Given the description of an element on the screen output the (x, y) to click on. 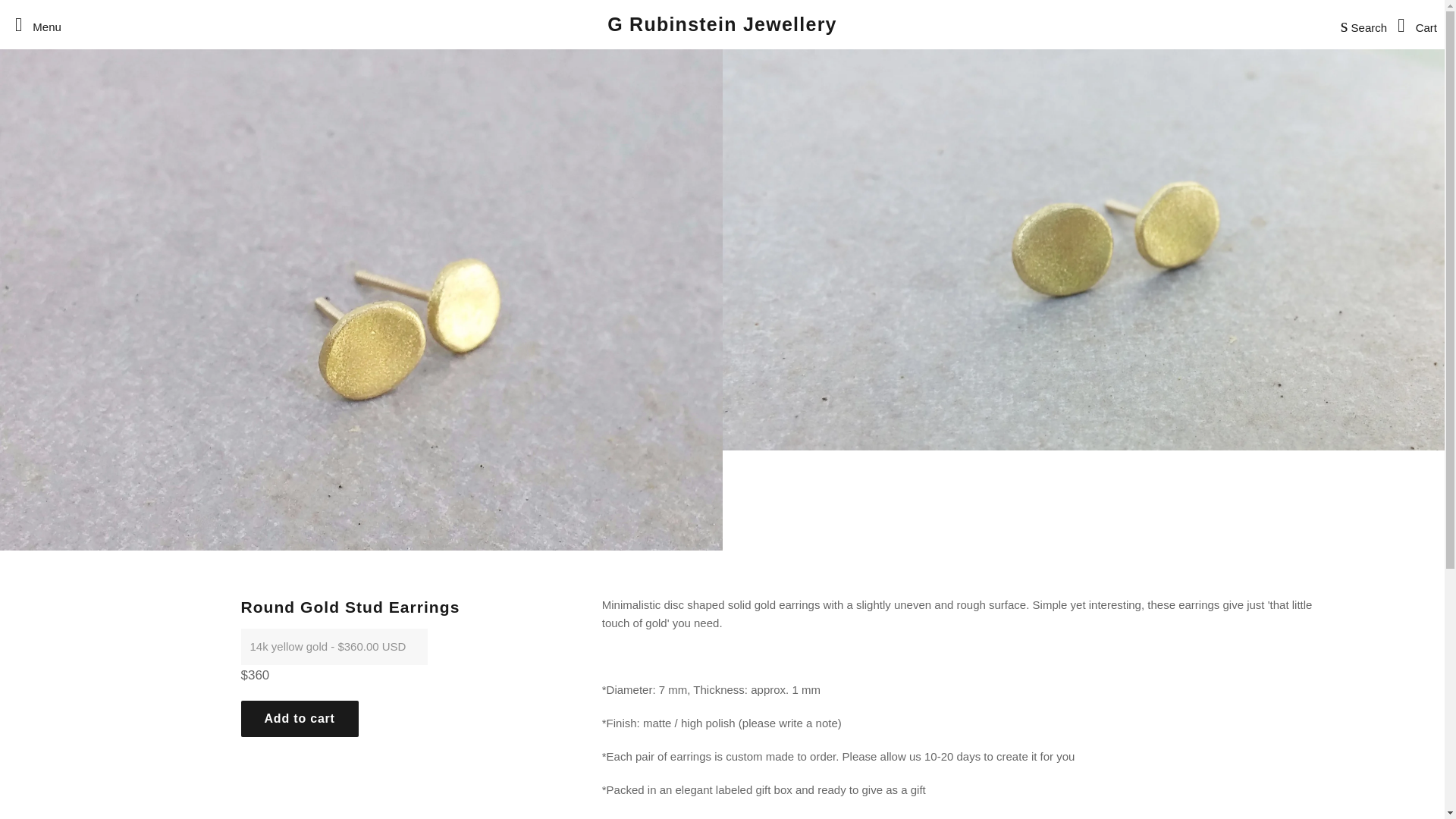
G Rubinstein Jewellery (722, 24)
Cart (1413, 23)
Search (1360, 23)
Add to cart (299, 719)
Menu (34, 24)
